Given the description of an element on the screen output the (x, y) to click on. 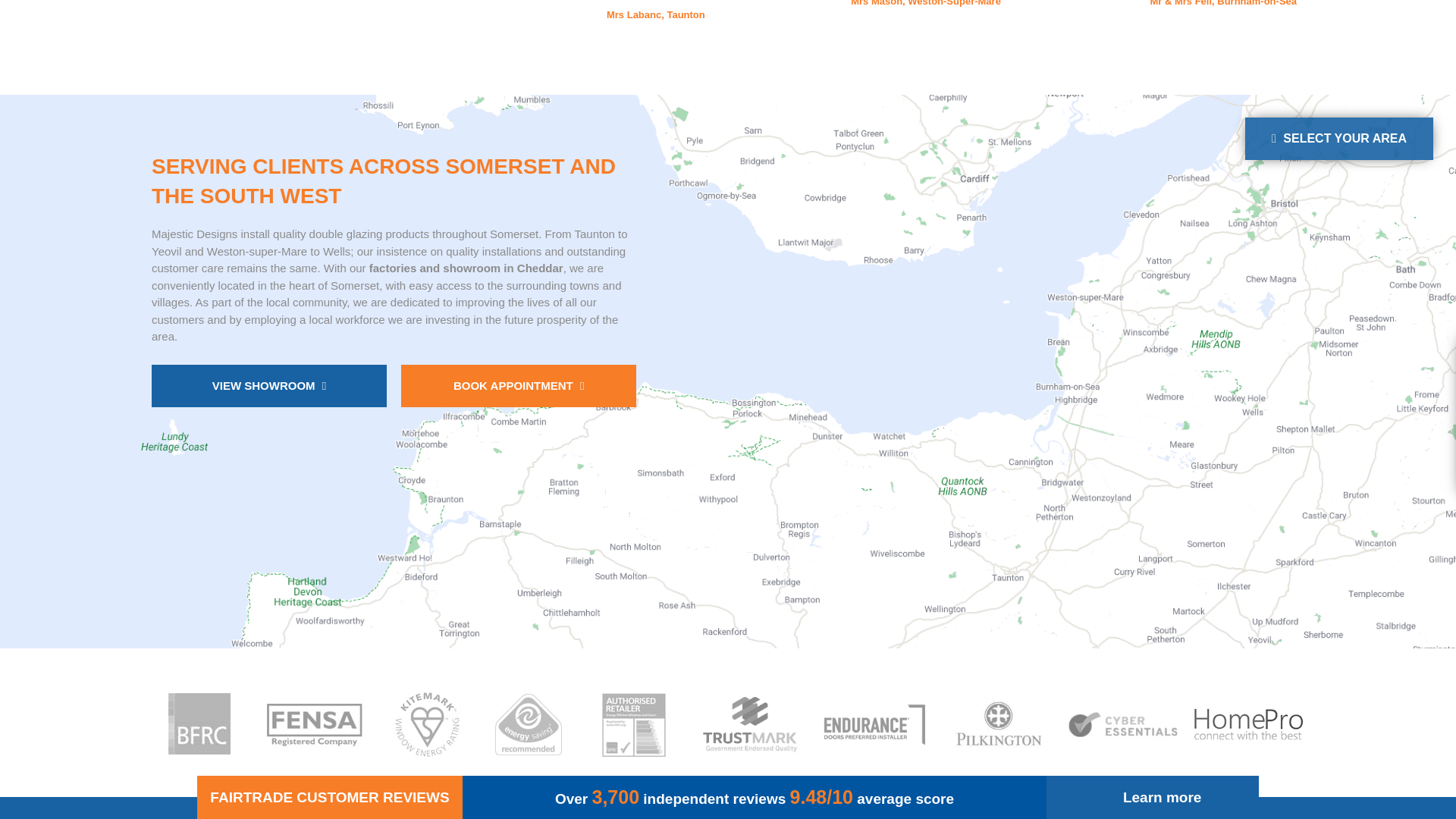
View showroom (269, 385)
Book appointment (518, 385)
